Given the description of an element on the screen output the (x, y) to click on. 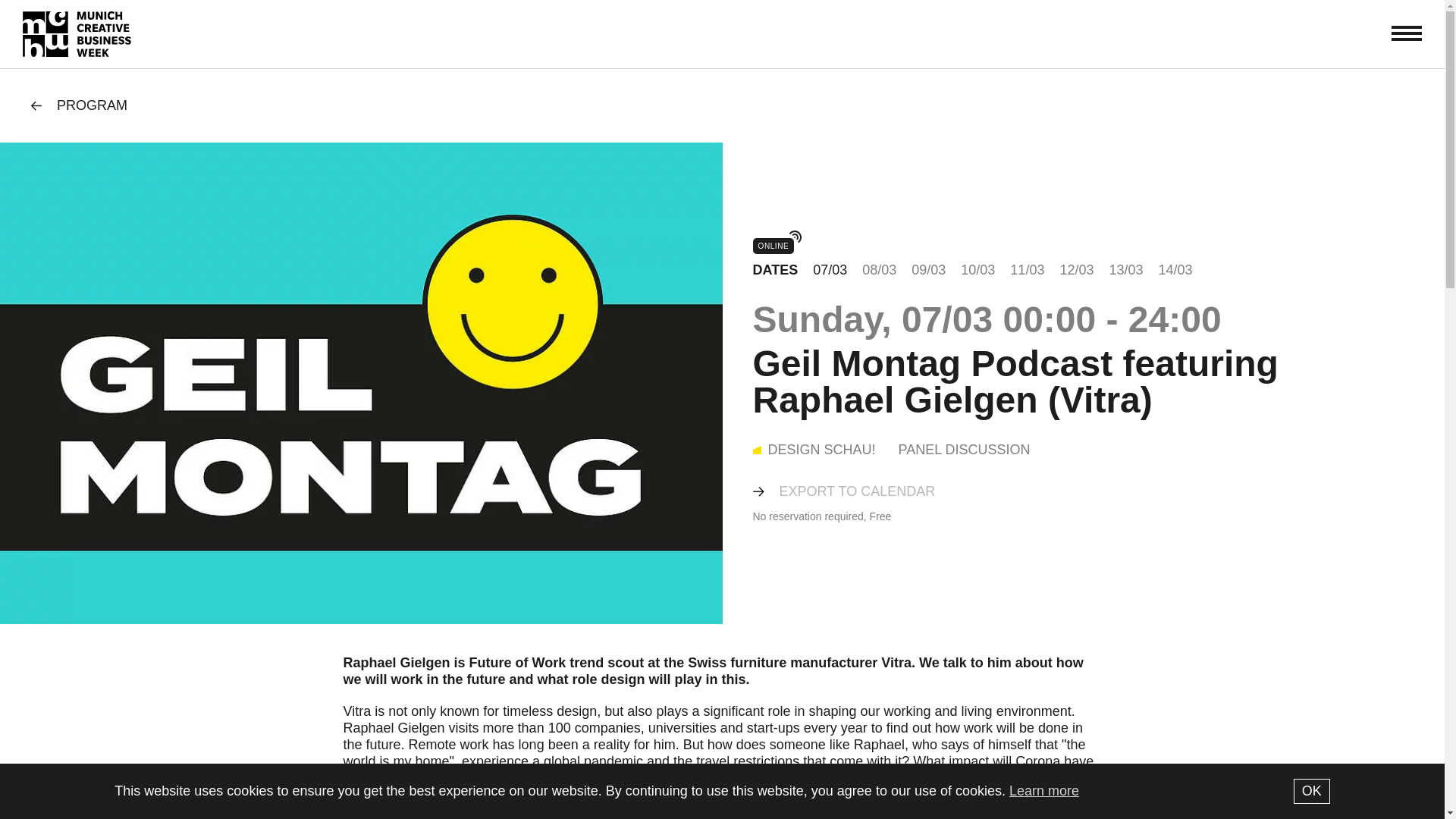
Export to calendar (857, 490)
Export to calendar (857, 490)
Learn more (1043, 790)
OK (1312, 790)
PROGRAM (79, 105)
